Given the description of an element on the screen output the (x, y) to click on. 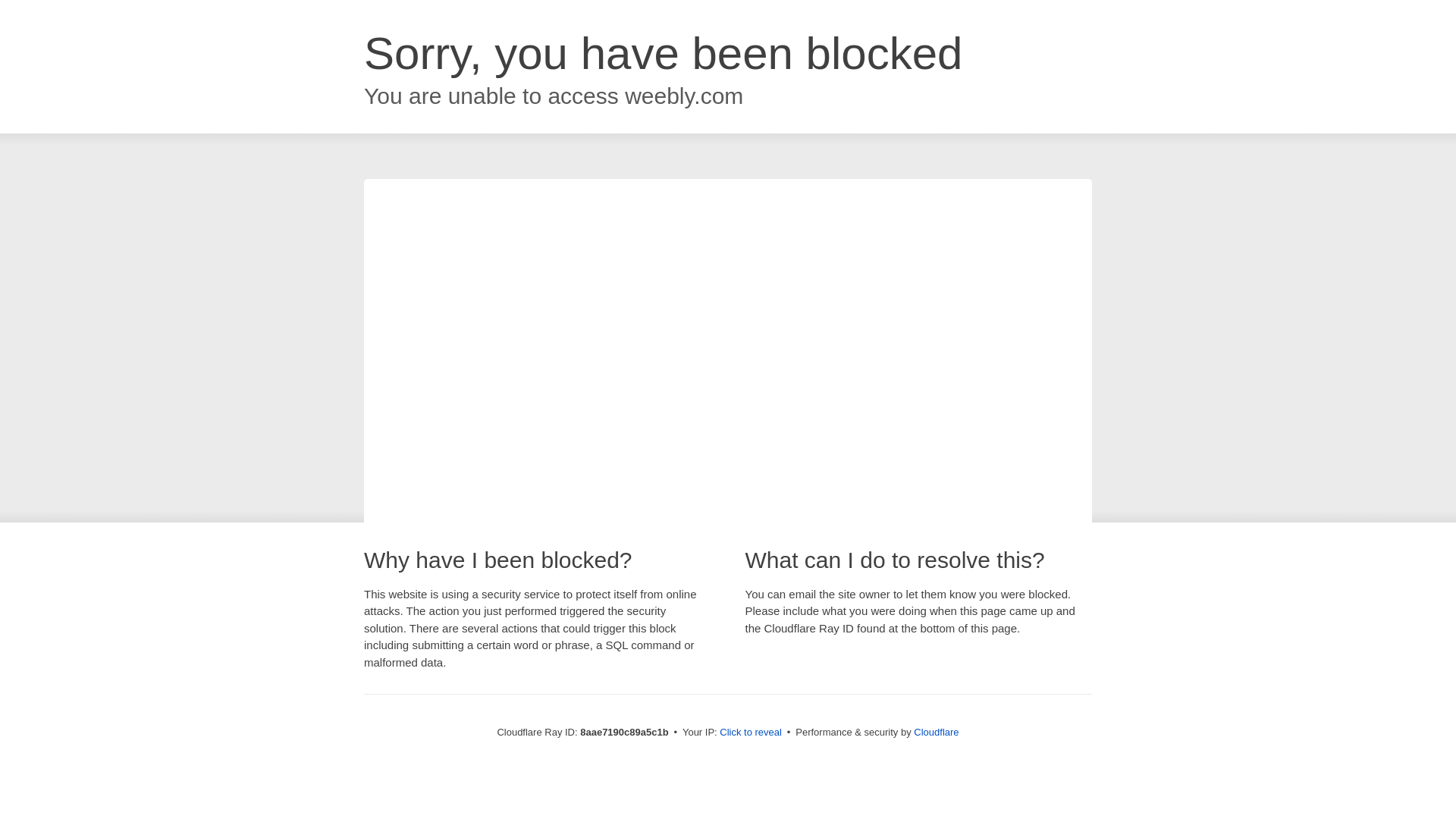
Cloudflare (936, 731)
Click to reveal (750, 732)
